Given the description of an element on the screen output the (x, y) to click on. 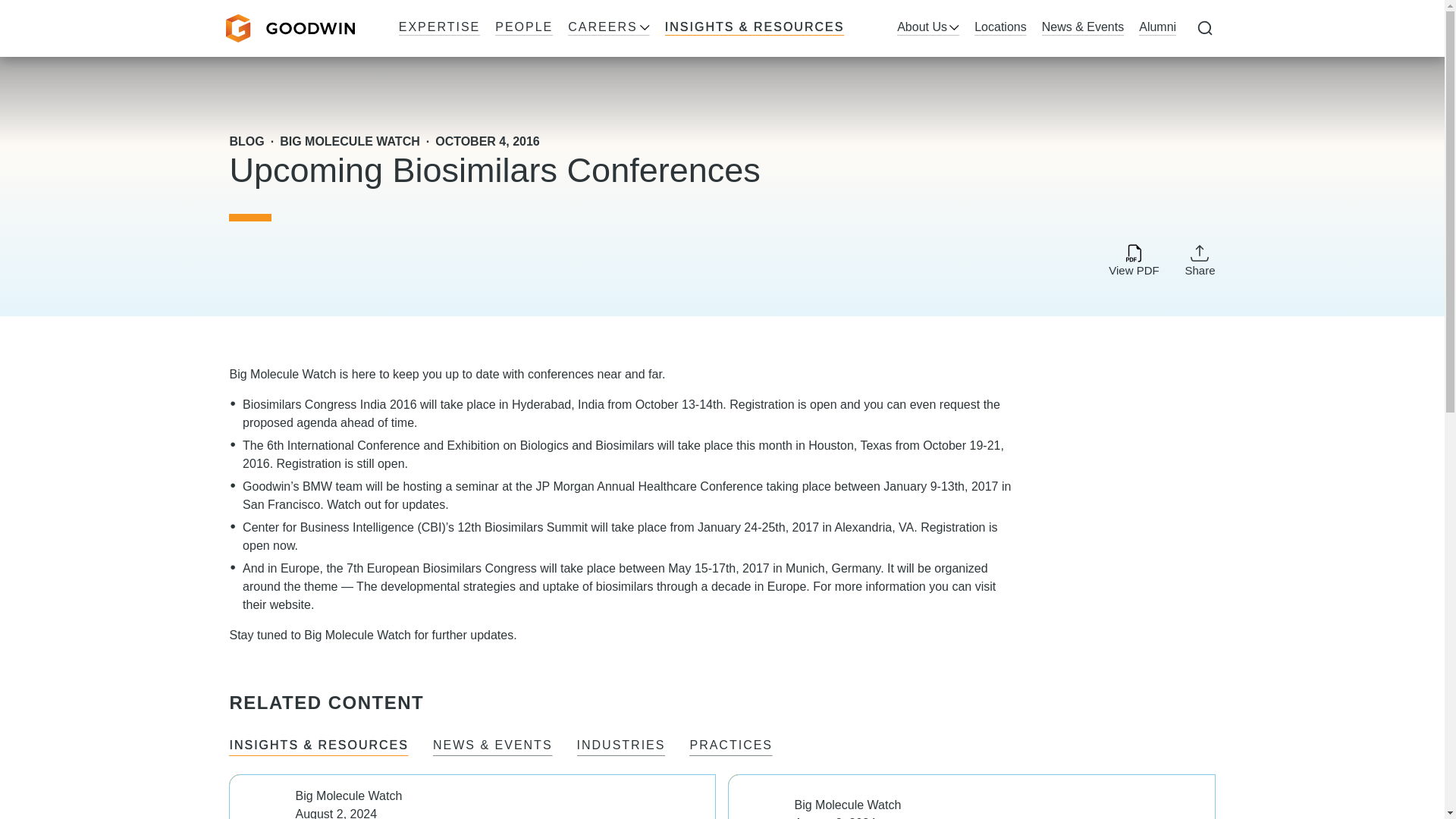
INDUSTRIES (620, 746)
Registration (308, 463)
Share (1199, 260)
Alumni (1157, 28)
PRACTICES (730, 746)
Biosimilars Congress India 2016 (329, 404)
EXPERTISE (439, 28)
Registration (952, 526)
website (290, 604)
PEOPLE (524, 28)
Goodwin (290, 28)
View PDF (1133, 261)
About Us (927, 28)
